Given the description of an element on the screen output the (x, y) to click on. 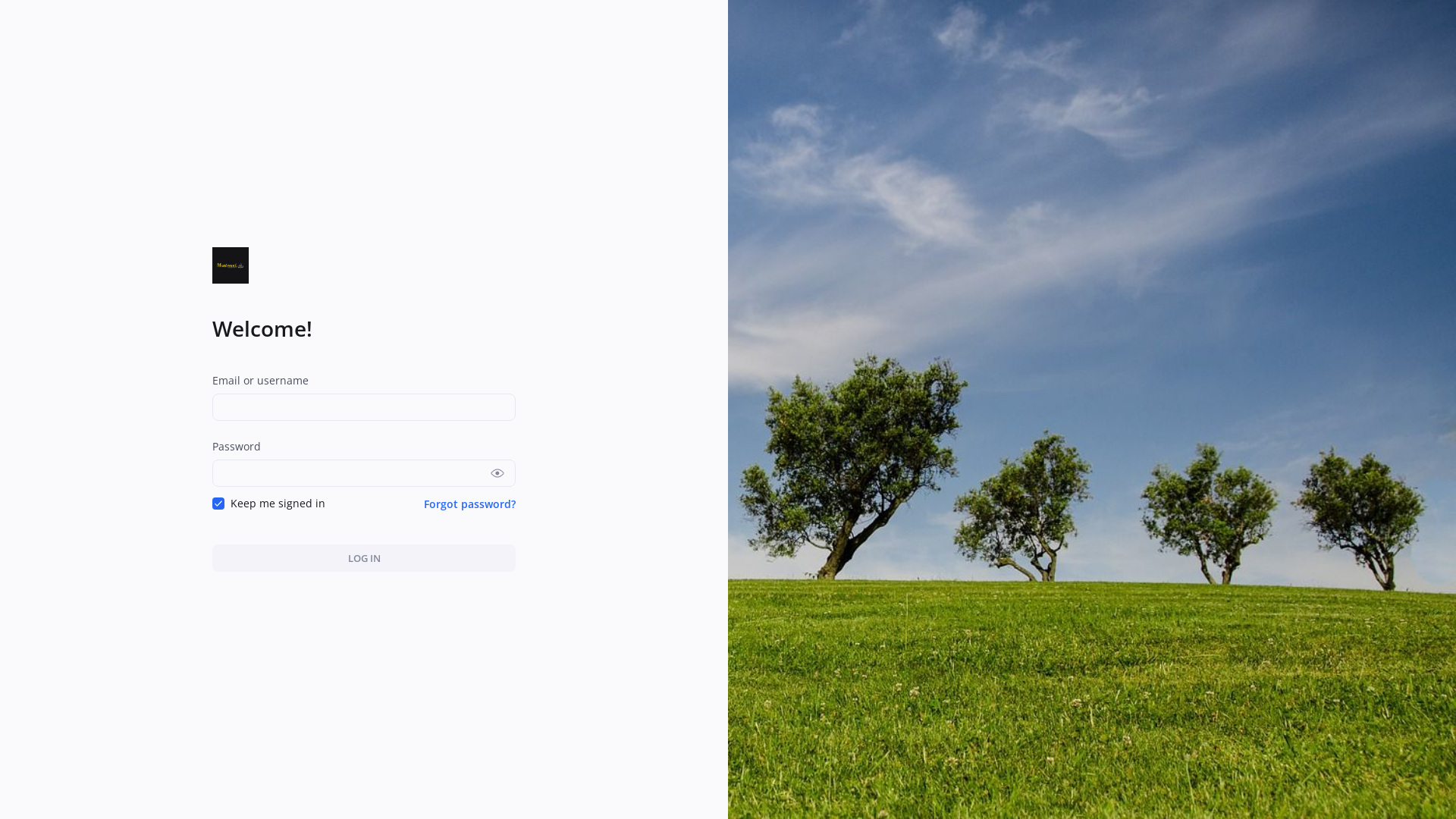
LOG IN Element type: text (363, 557)
Forgot password? Element type: text (469, 502)
